Given the description of an element on the screen output the (x, y) to click on. 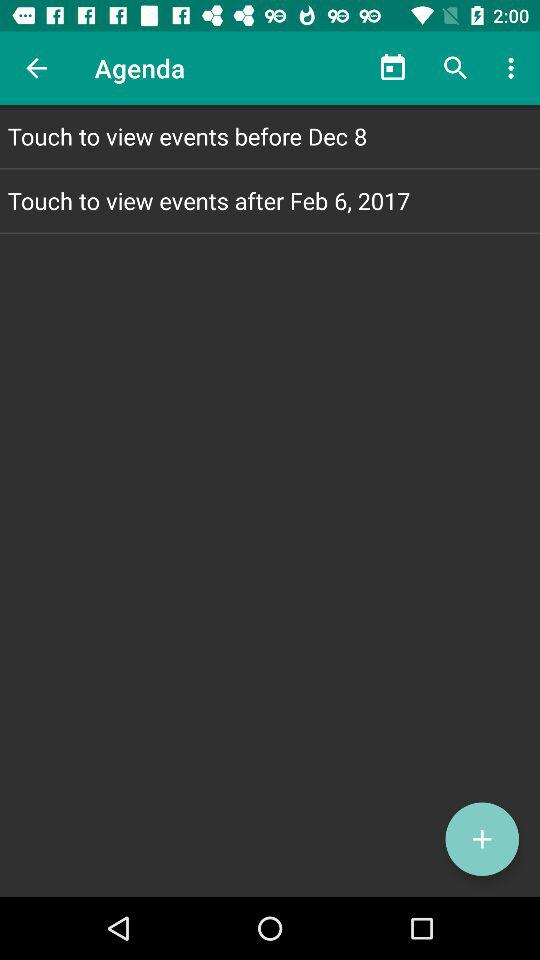
click the icon to the right of the agenda icon (392, 67)
